Given the description of an element on the screen output the (x, y) to click on. 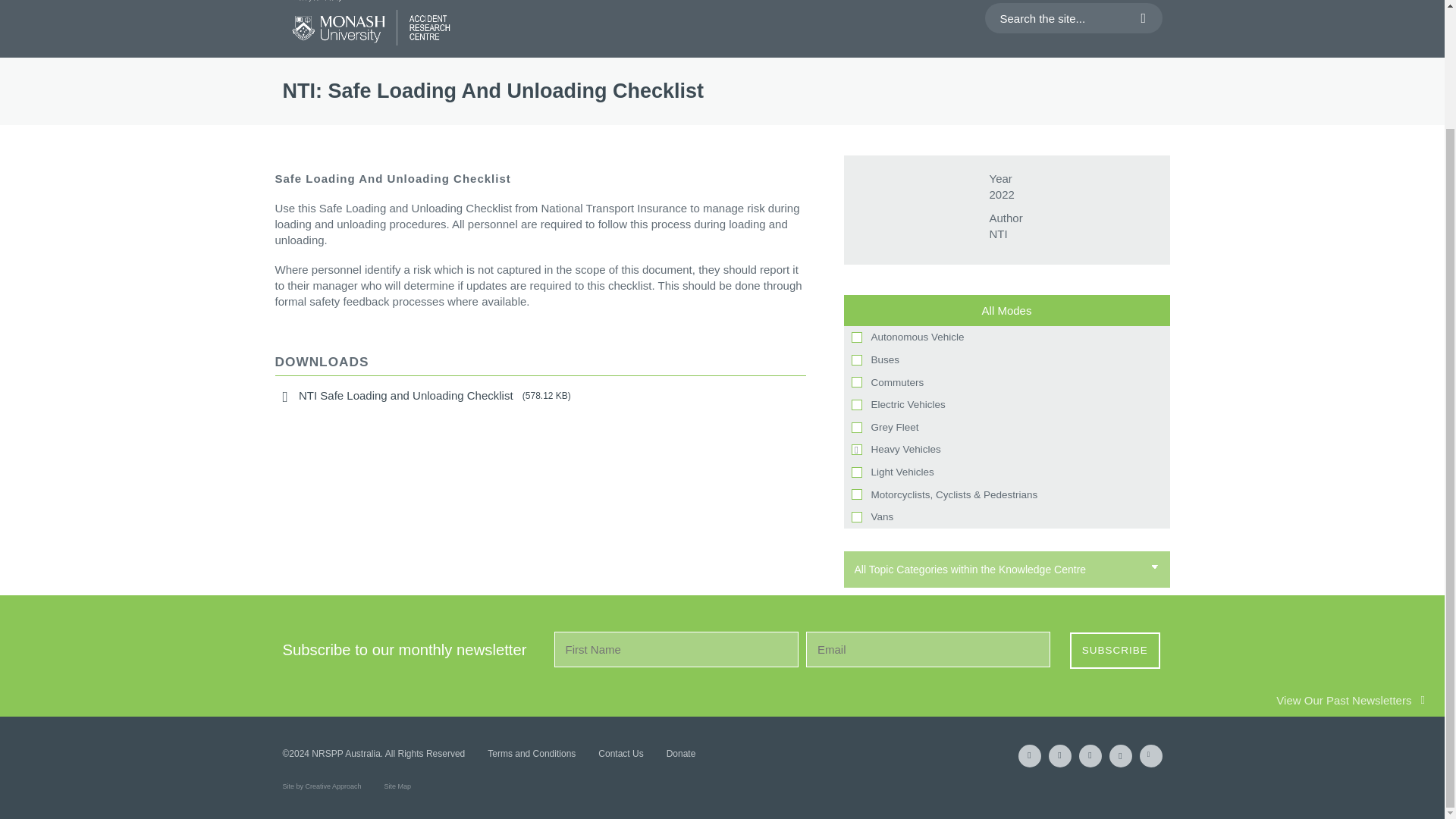
Subscribe (1115, 650)
